Given the description of an element on the screen output the (x, y) to click on. 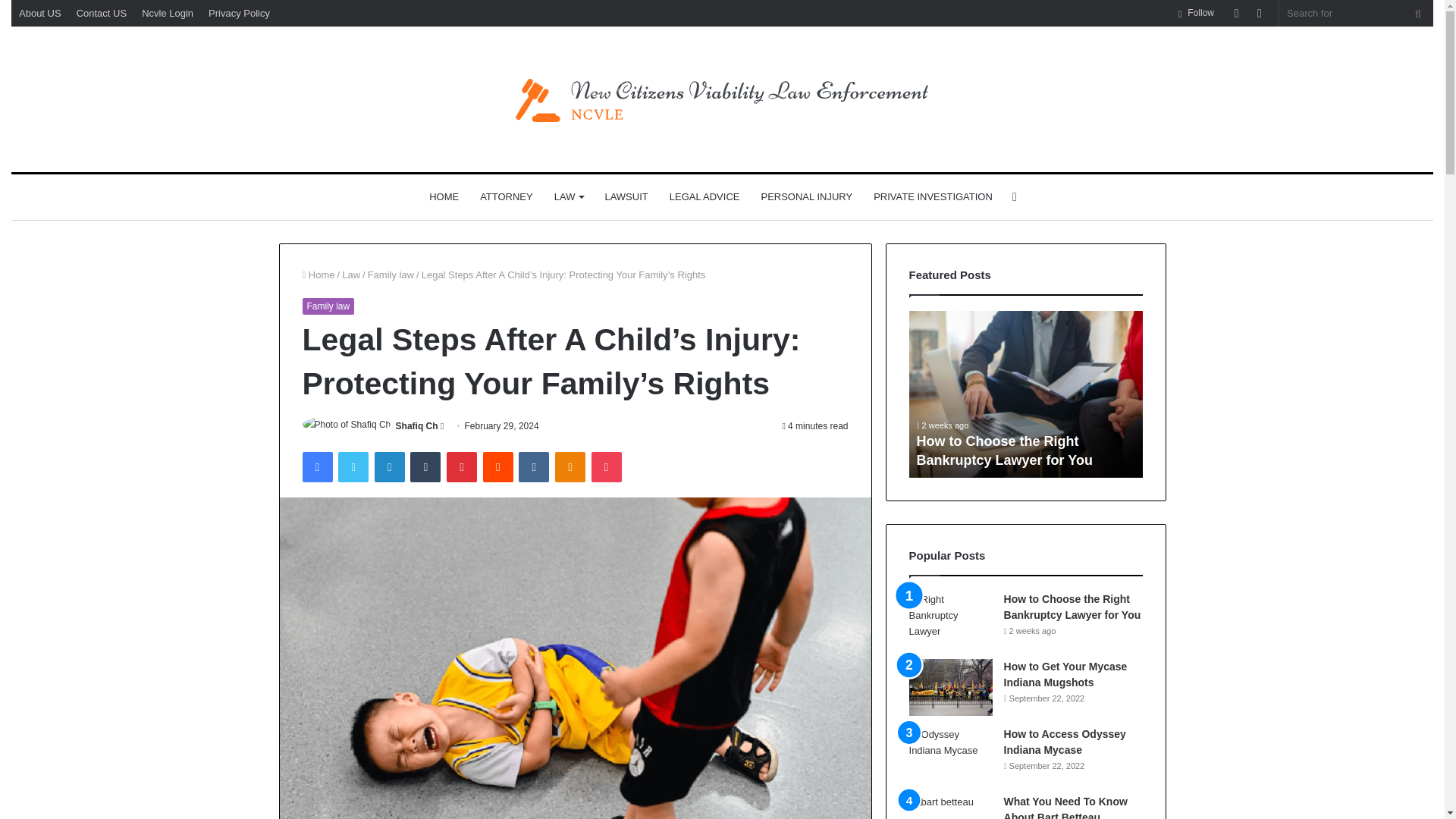
Pinterest (461, 467)
ATTORNEY (505, 197)
VKontakte (533, 467)
Search for (1417, 13)
Odnoklassniki (569, 467)
Home (317, 274)
Twitter (352, 467)
Twitter (352, 467)
Facebook (316, 467)
New Citizens Viability Law Enforcement (722, 99)
